Given the description of an element on the screen output the (x, y) to click on. 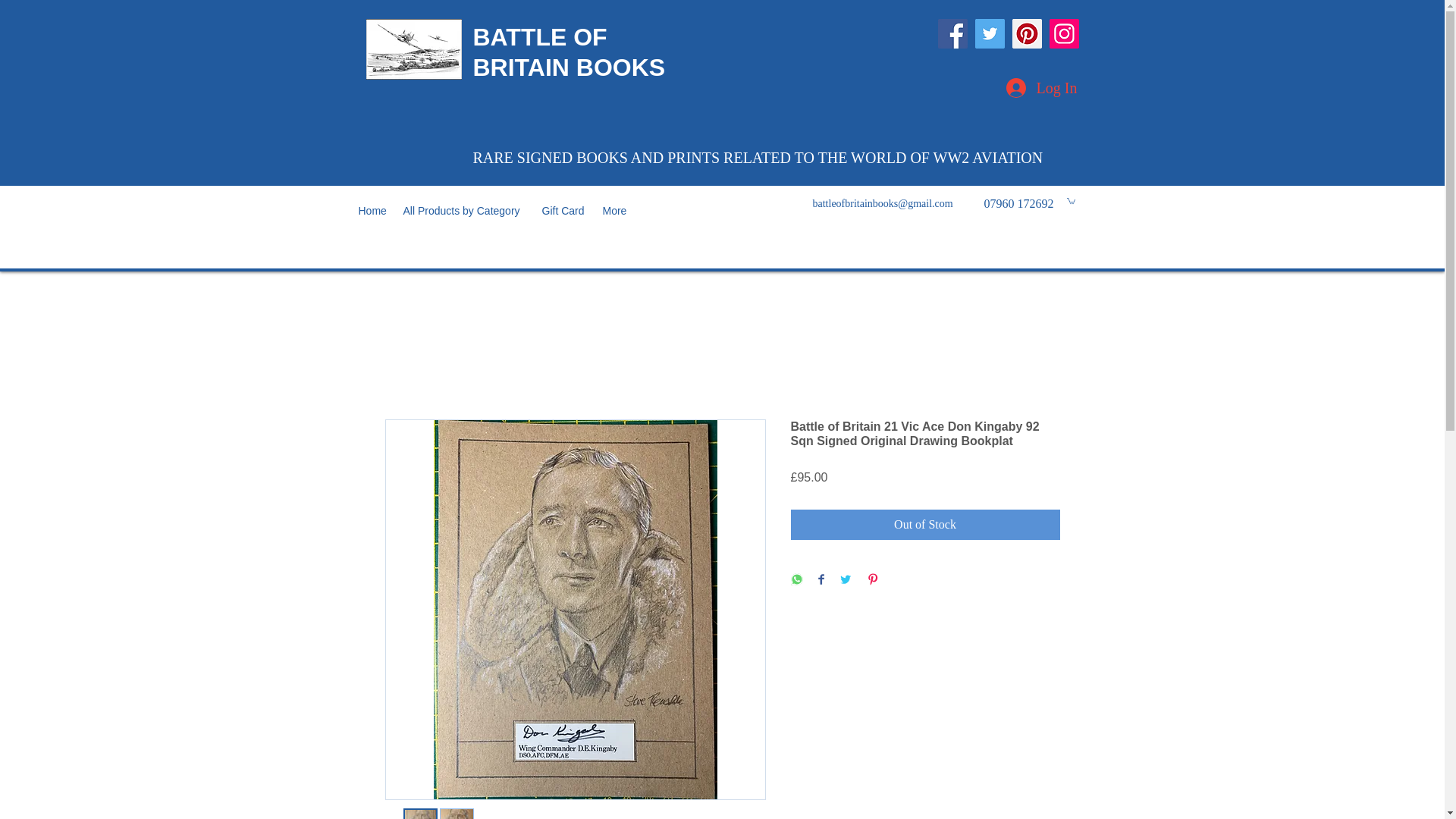
All Products by Category (465, 210)
Gift Card (564, 210)
Log In (1040, 87)
Home (372, 210)
Out of Stock (924, 524)
